Given the description of an element on the screen output the (x, y) to click on. 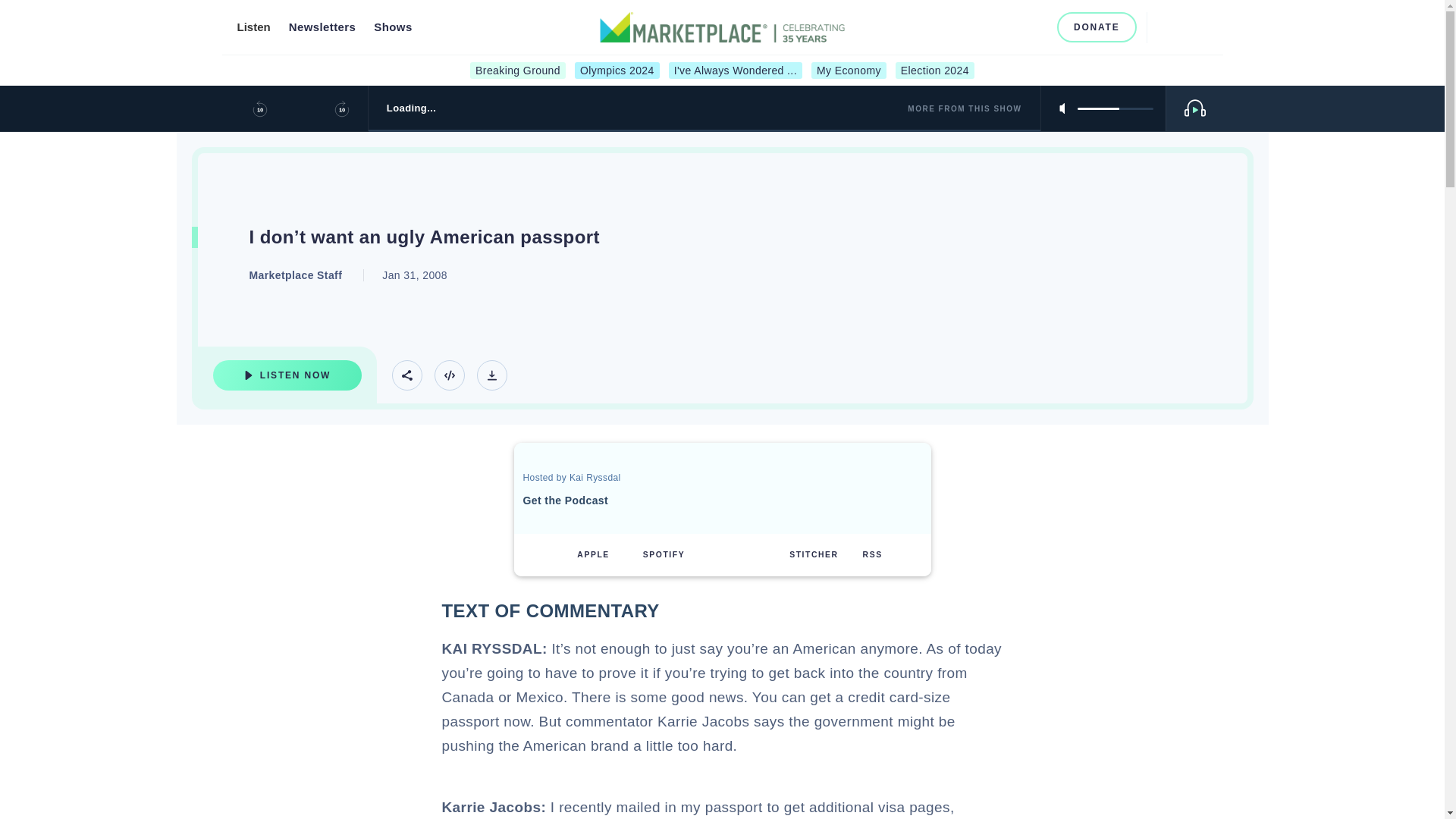
Youtube (1011, 27)
DONATE (1097, 27)
5 (1115, 108)
Instagram (985, 27)
Facebook (962, 27)
Search (1164, 27)
Listen Now (286, 374)
Newsletters (322, 27)
volume (1115, 108)
